Given the description of an element on the screen output the (x, y) to click on. 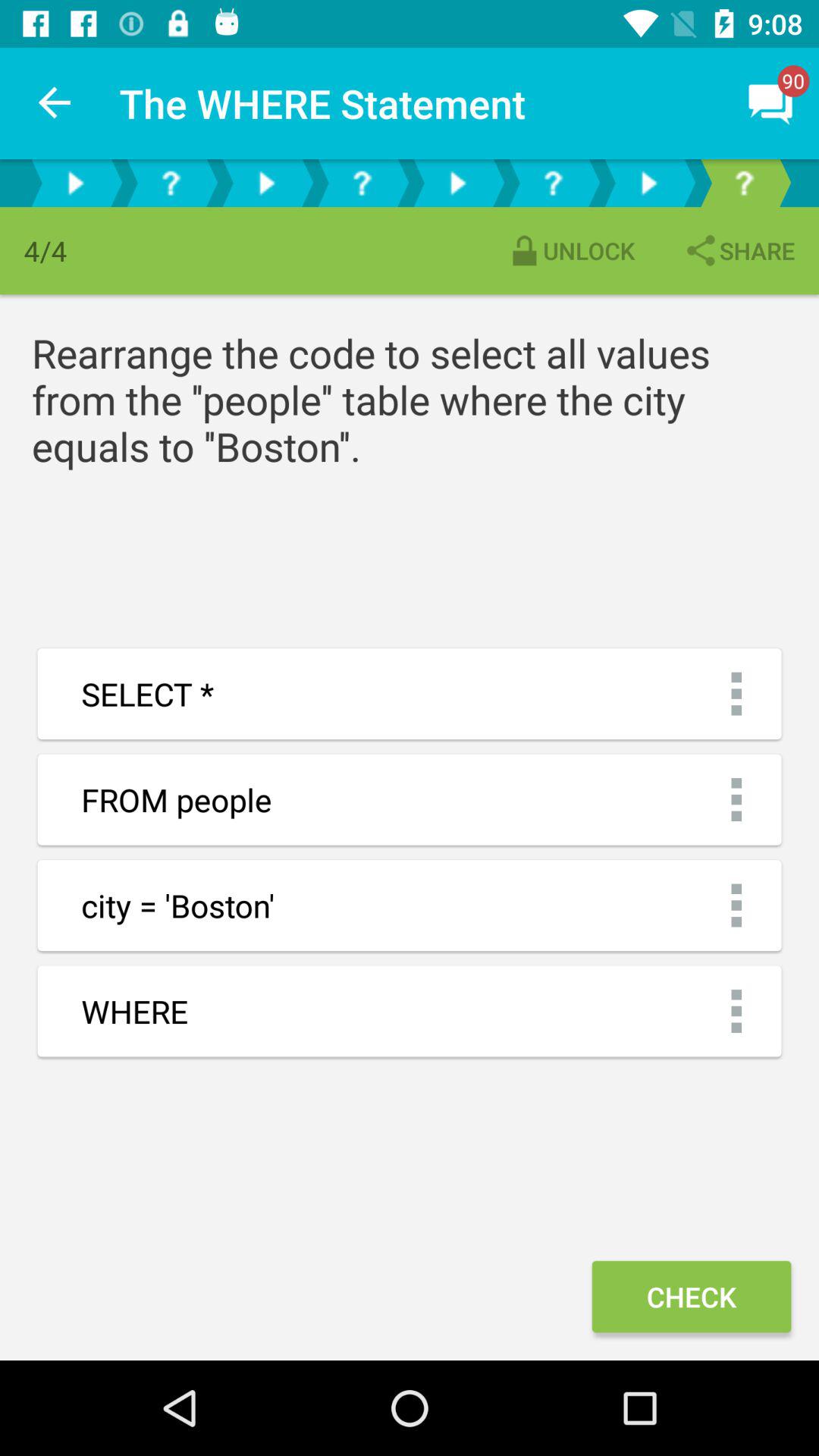
go next page (648, 183)
